Given the description of an element on the screen output the (x, y) to click on. 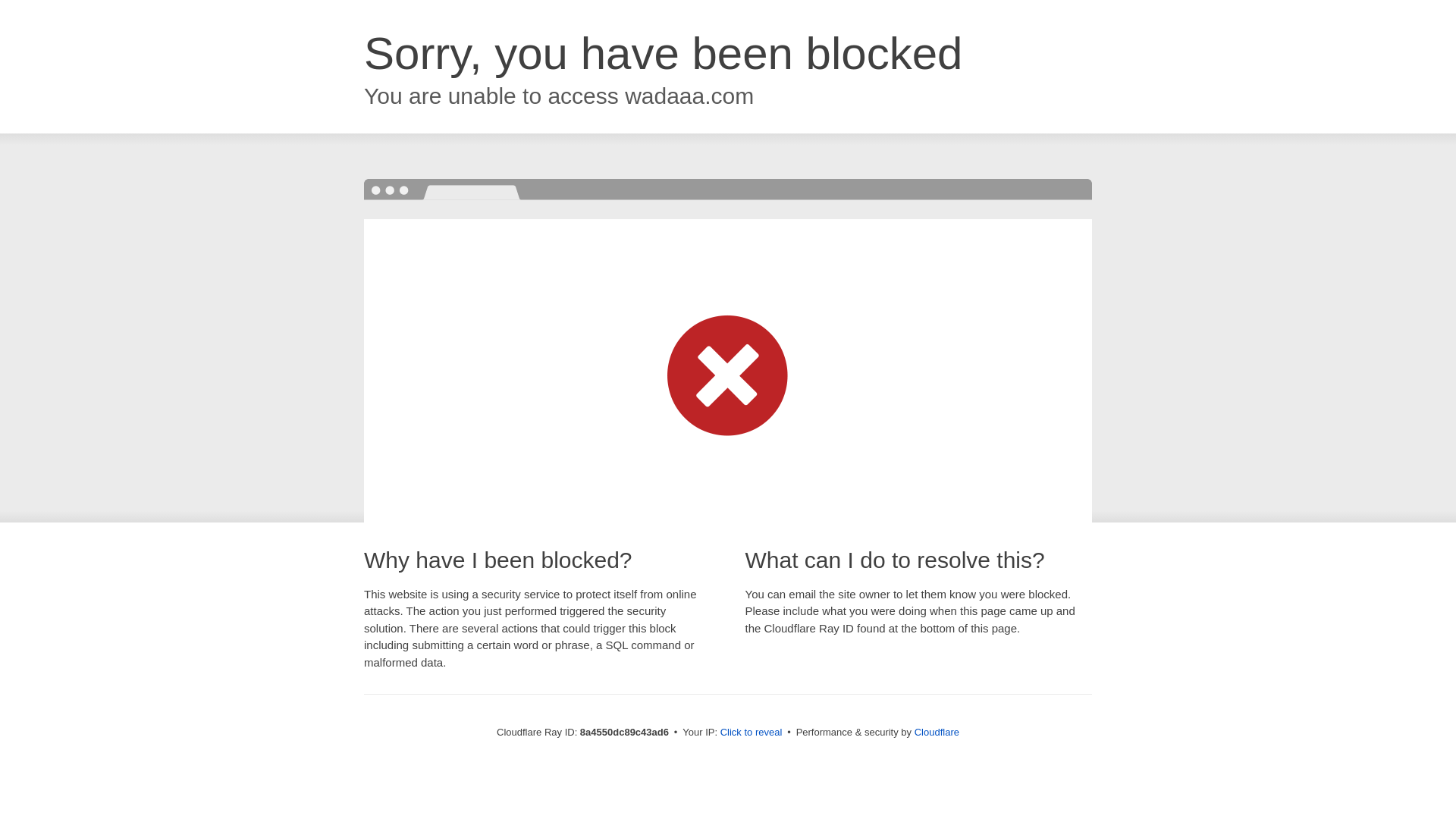
Cloudflare (936, 731)
Click to reveal (751, 732)
